Given the description of an element on the screen output the (x, y) to click on. 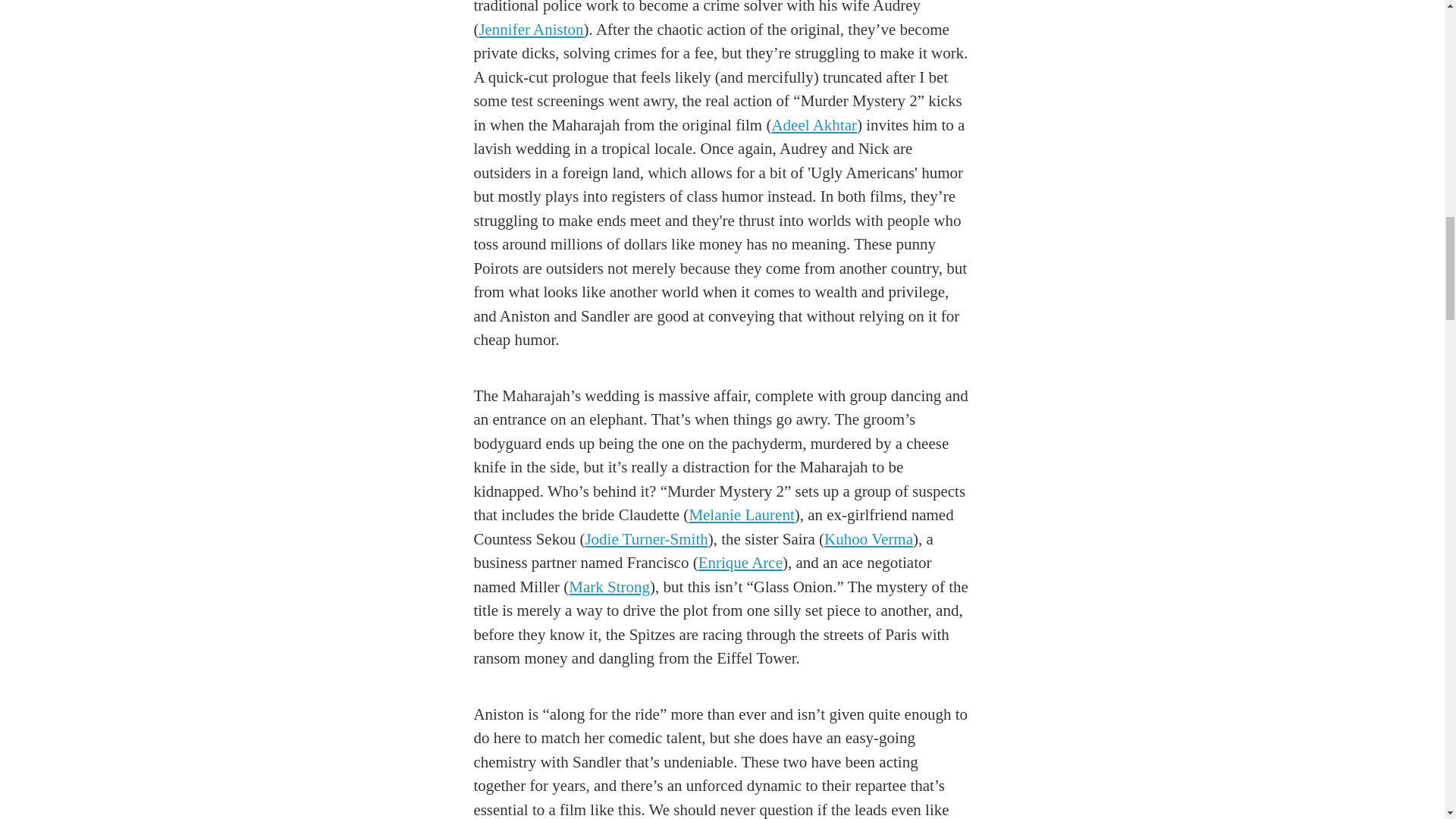
Mark Strong (609, 587)
Enrique Arce (740, 562)
Jennifer Aniston (531, 29)
Adeel Akhtar (814, 125)
Melanie Laurent (740, 515)
Kuhoo Verma (868, 538)
Jodie Turner-Smith (646, 538)
